Given the description of an element on the screen output the (x, y) to click on. 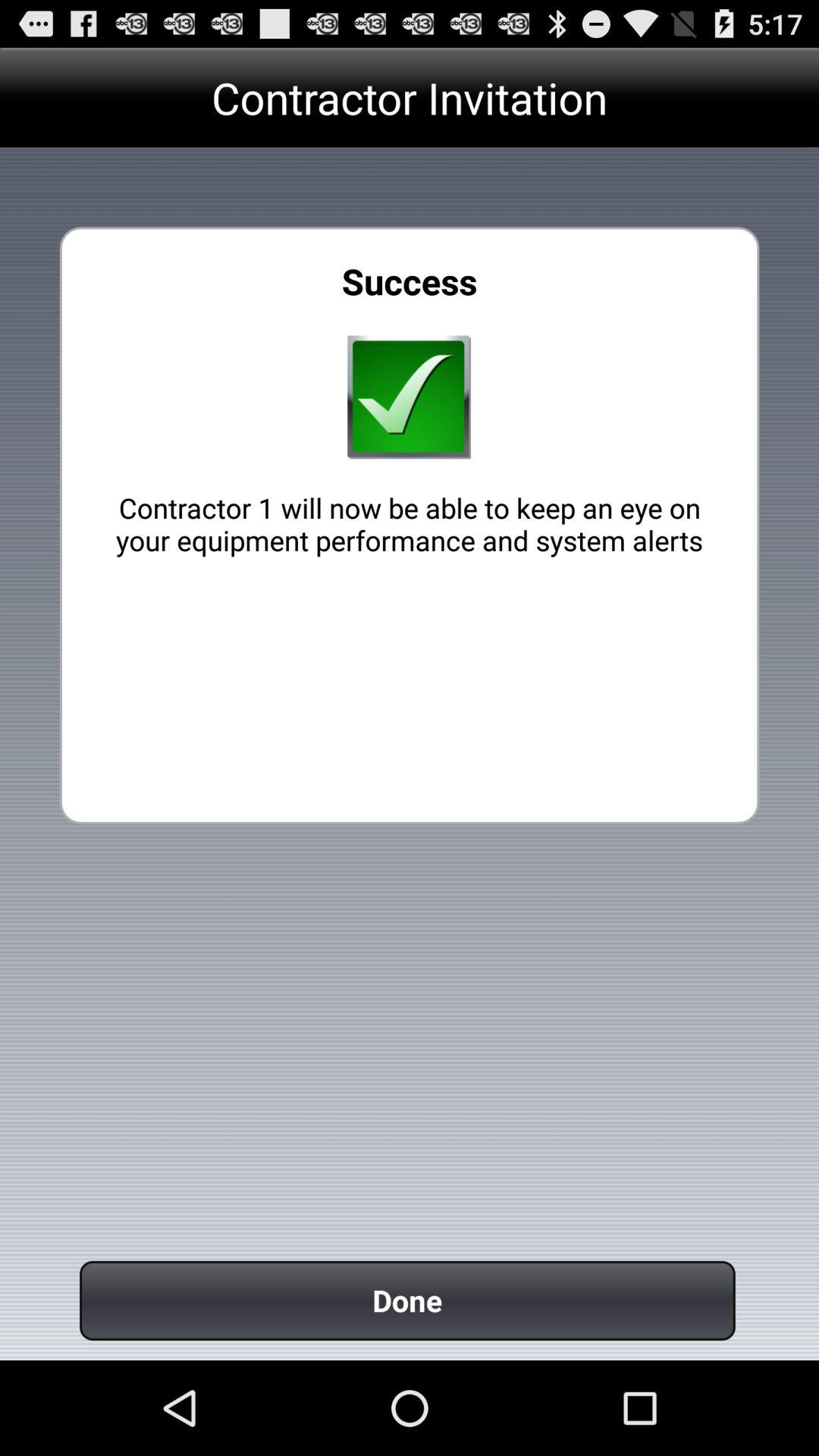
press button at the bottom (407, 1300)
